Given the description of an element on the screen output the (x, y) to click on. 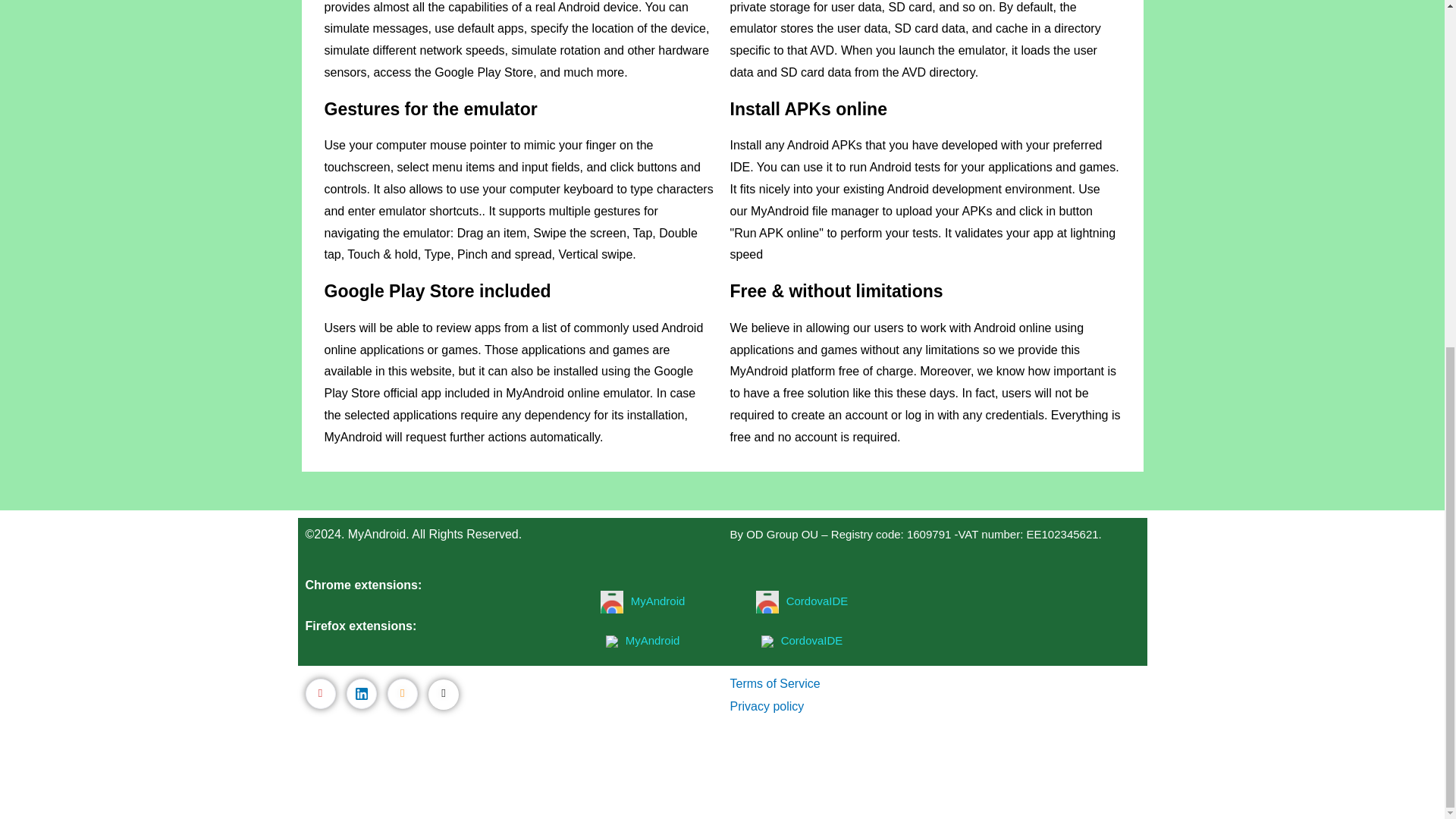
Privacy policy (766, 706)
CordovaIDE (817, 600)
CordovaIDE (811, 640)
MyAndroid (657, 600)
MyAndroid (652, 640)
Terms of Service (774, 683)
